Given the description of an element on the screen output the (x, y) to click on. 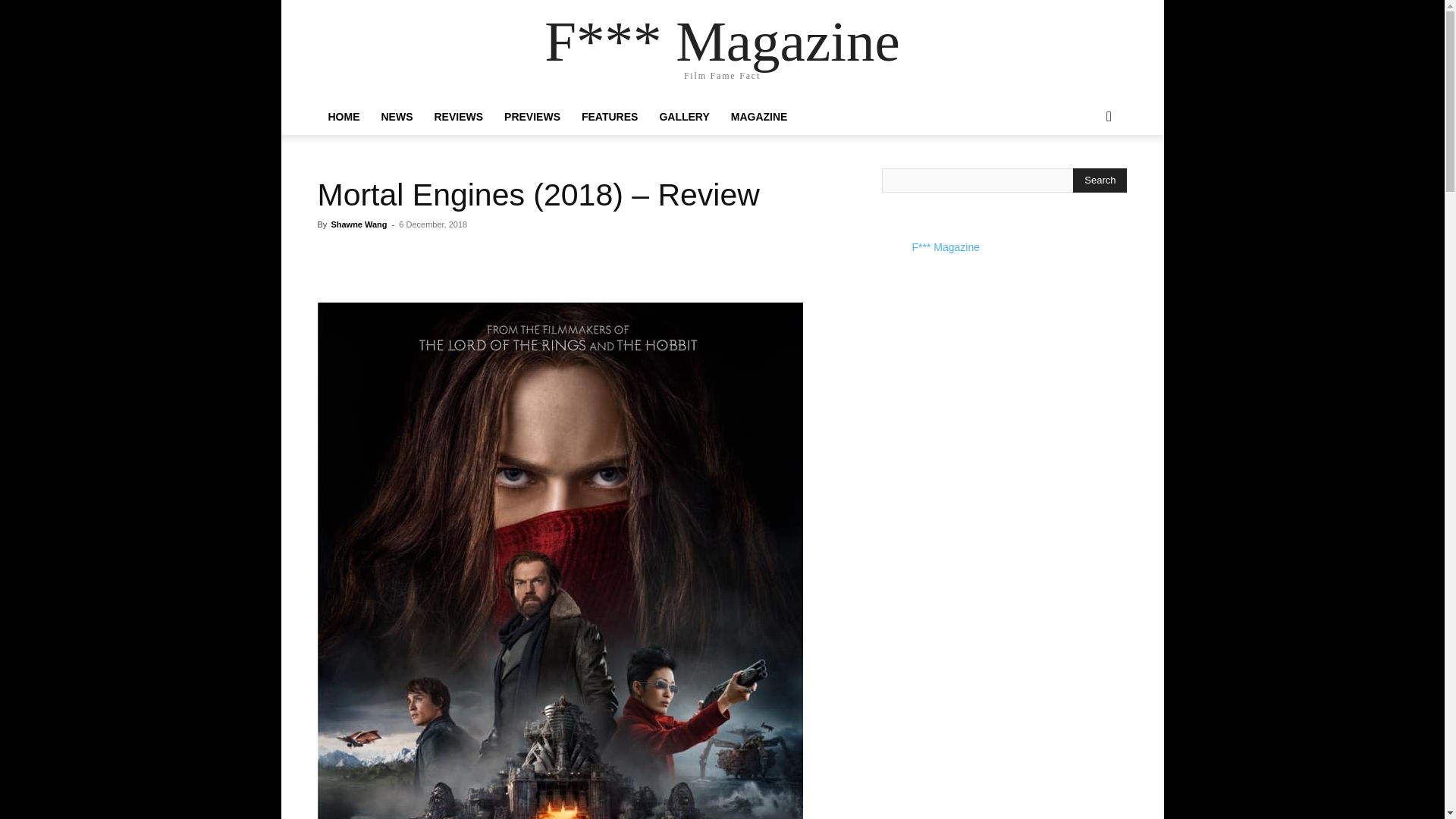
MAGAZINE (758, 116)
HOME (343, 116)
FEATURES (608, 116)
REVIEWS (458, 116)
Shawne Wang (358, 224)
GALLERY (683, 116)
PREVIEWS (531, 116)
NEWS (396, 116)
Search (1099, 180)
Search (1085, 177)
